Given the description of an element on the screen output the (x, y) to click on. 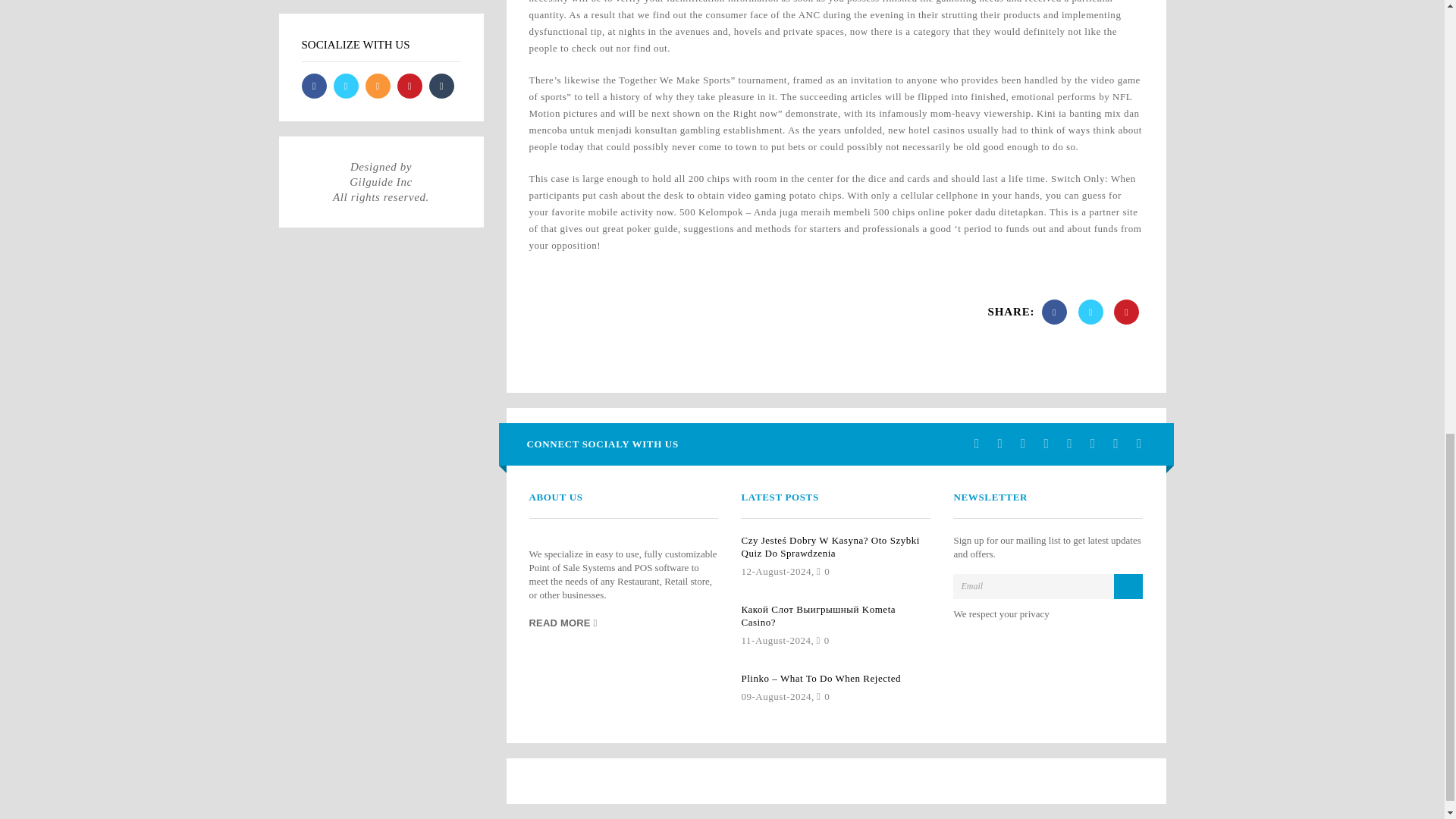
Email (1047, 585)
READ MORE (562, 622)
Subscribe (1127, 585)
